Given the description of an element on the screen output the (x, y) to click on. 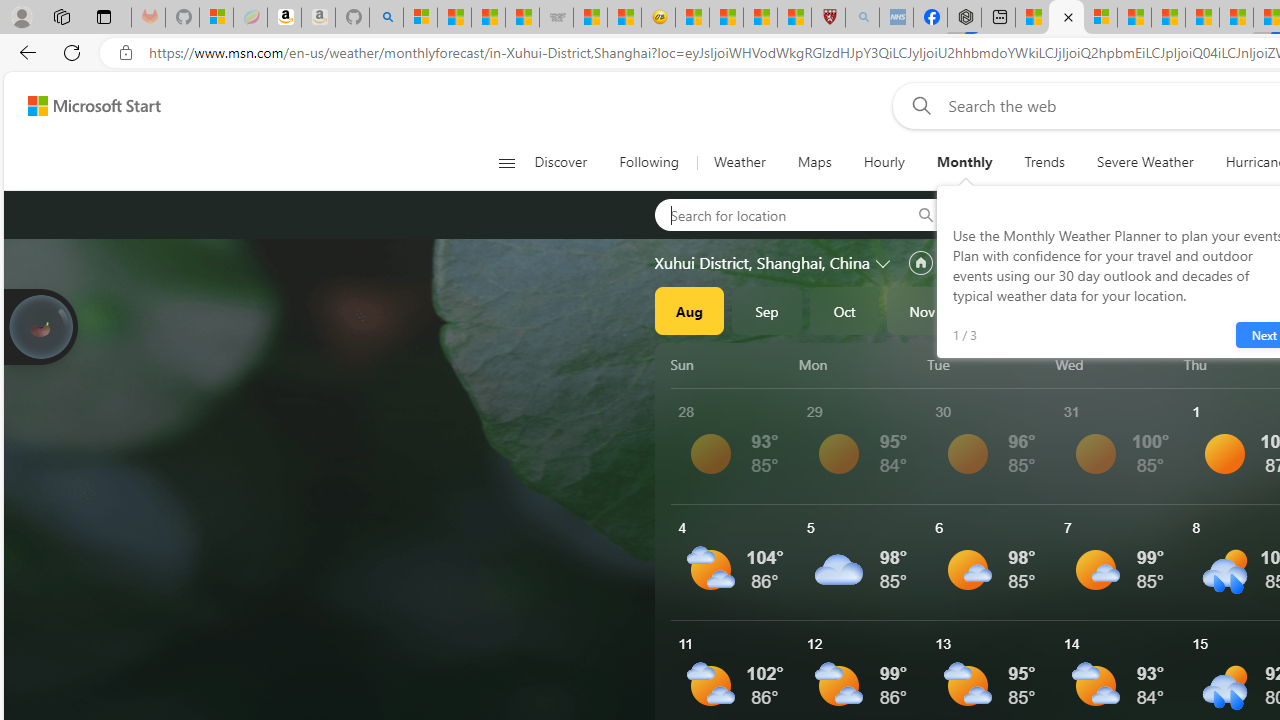
14 Common Myths Debunked By Scientific Facts (1202, 17)
Sun (731, 363)
Open navigation menu (506, 162)
Web search (917, 105)
Dec (1000, 310)
Science - MSN (759, 17)
Join us in planting real trees to help our planet! (40, 325)
Maps (814, 162)
